Given the description of an element on the screen output the (x, y) to click on. 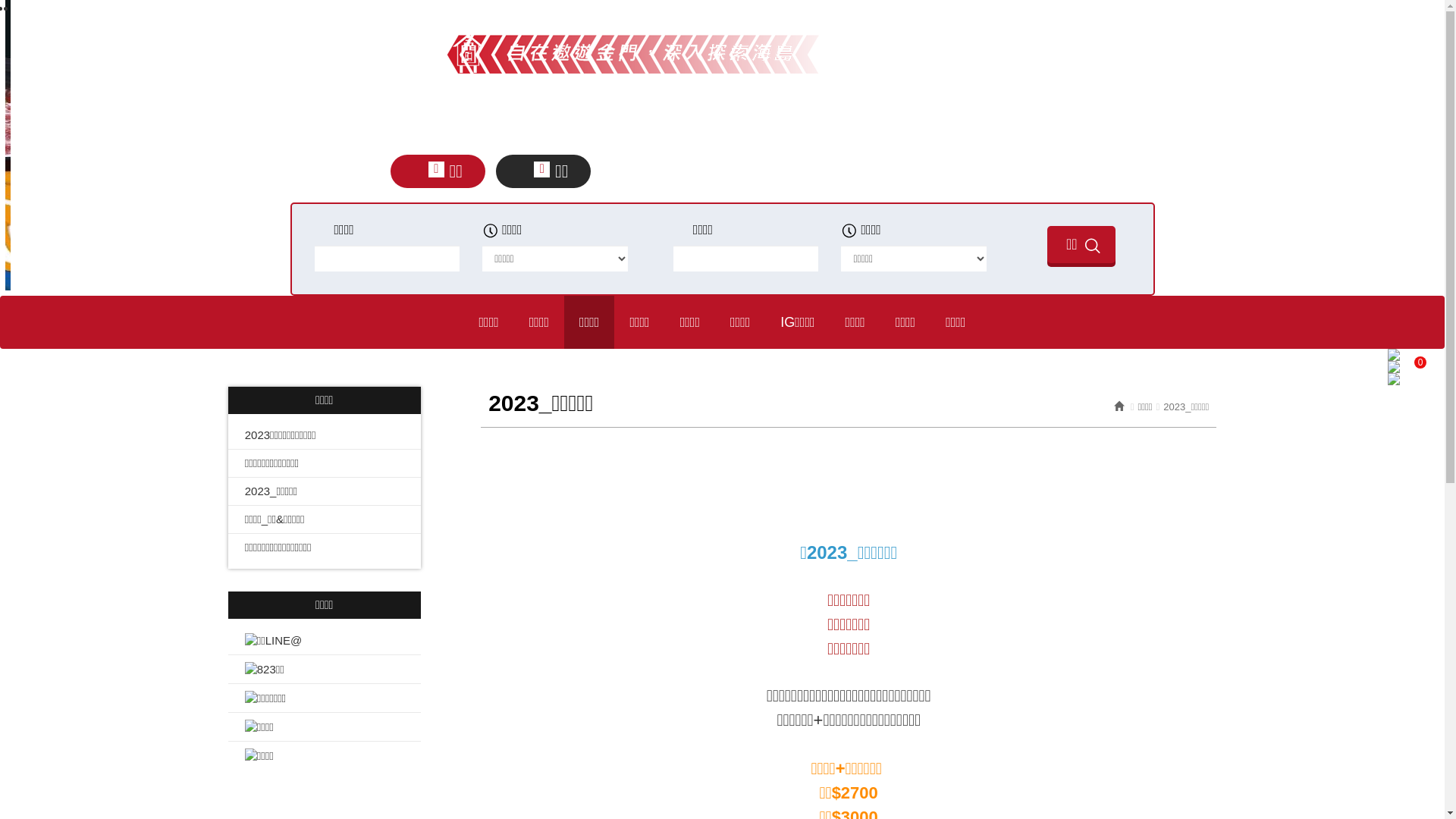
0 Element type: text (1410, 354)
